Given the description of an element on the screen output the (x, y) to click on. 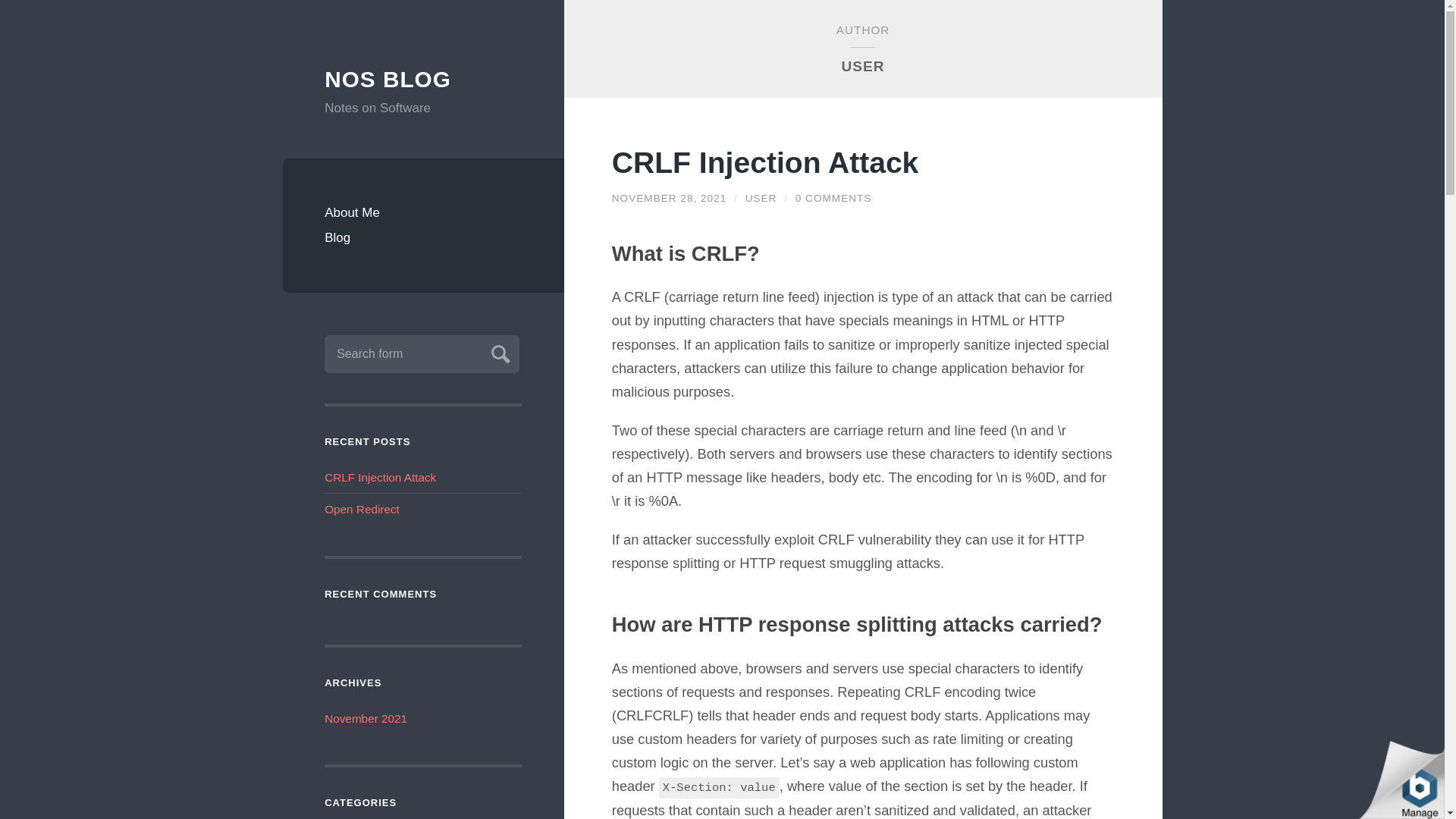
NOVEMBER 28, 2021 (668, 197)
CRLF Injection Attack (379, 477)
Posts by user (761, 197)
0 COMMENTS (833, 197)
Search (498, 351)
November 2021 (365, 717)
About Me (422, 212)
CRLF Injection Attack (668, 197)
Open Redirect (361, 508)
CRLF Injection Attack (764, 162)
